Given the description of an element on the screen output the (x, y) to click on. 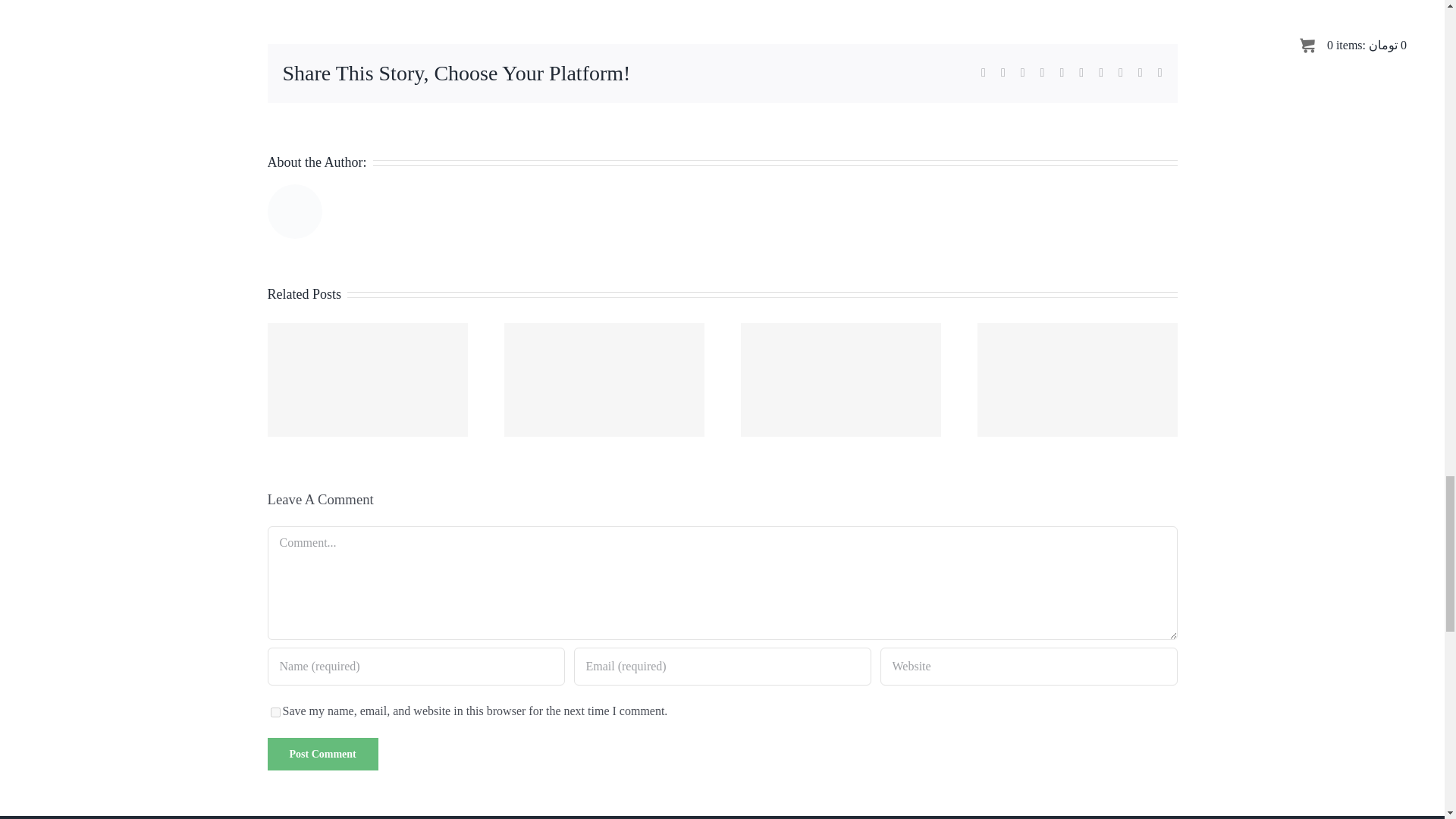
yes (274, 712)
Post Comment (321, 753)
